Given the description of an element on the screen output the (x, y) to click on. 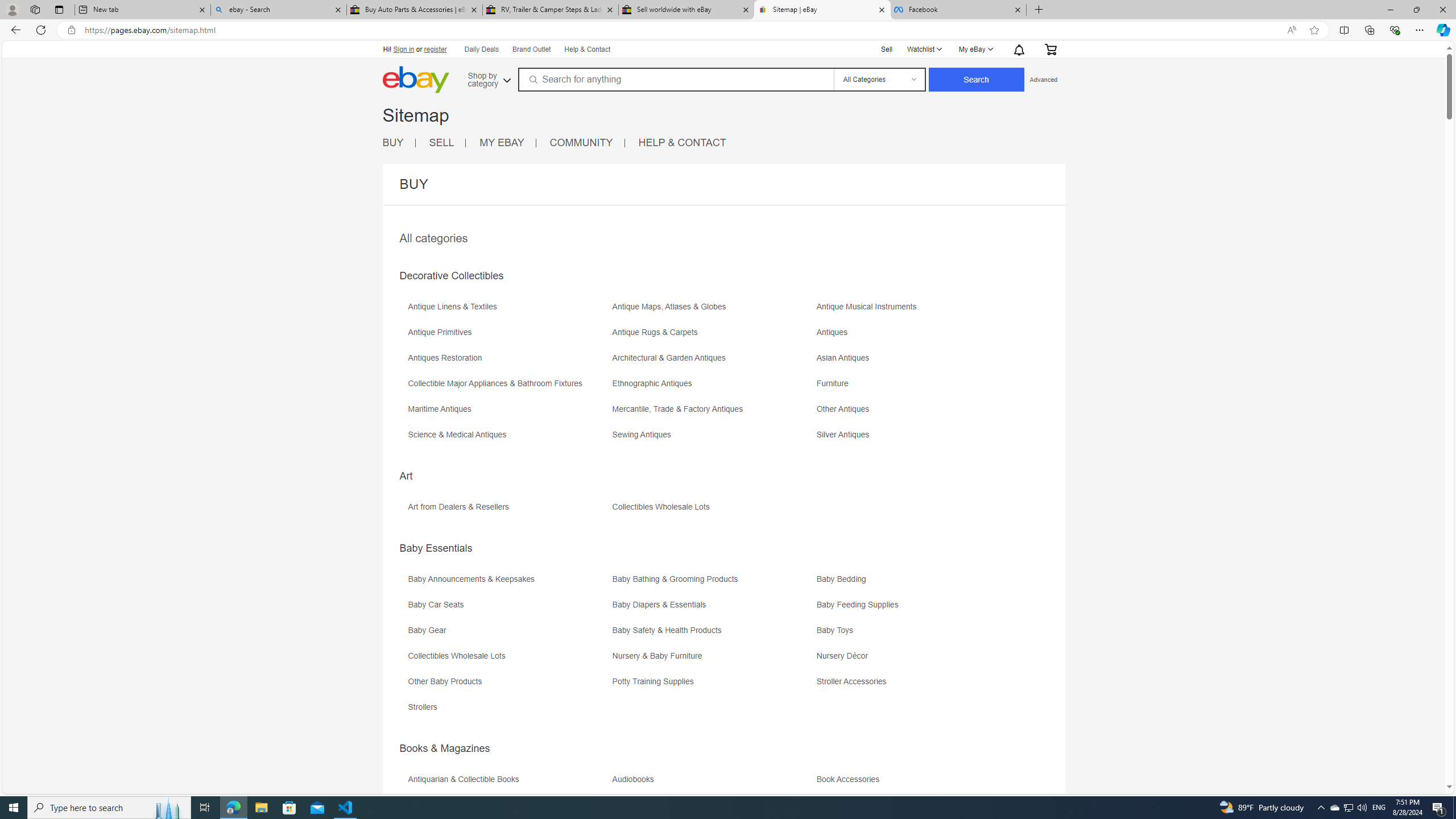
Shop by category (488, 78)
Strollers (424, 707)
Antique Linens & Textiles (454, 306)
Art (405, 475)
Architectural & Garden Antiques (670, 357)
Strollers (508, 711)
Expand Cart (1049, 49)
Sell (886, 48)
Furniture (835, 383)
